Given the description of an element on the screen output the (x, y) to click on. 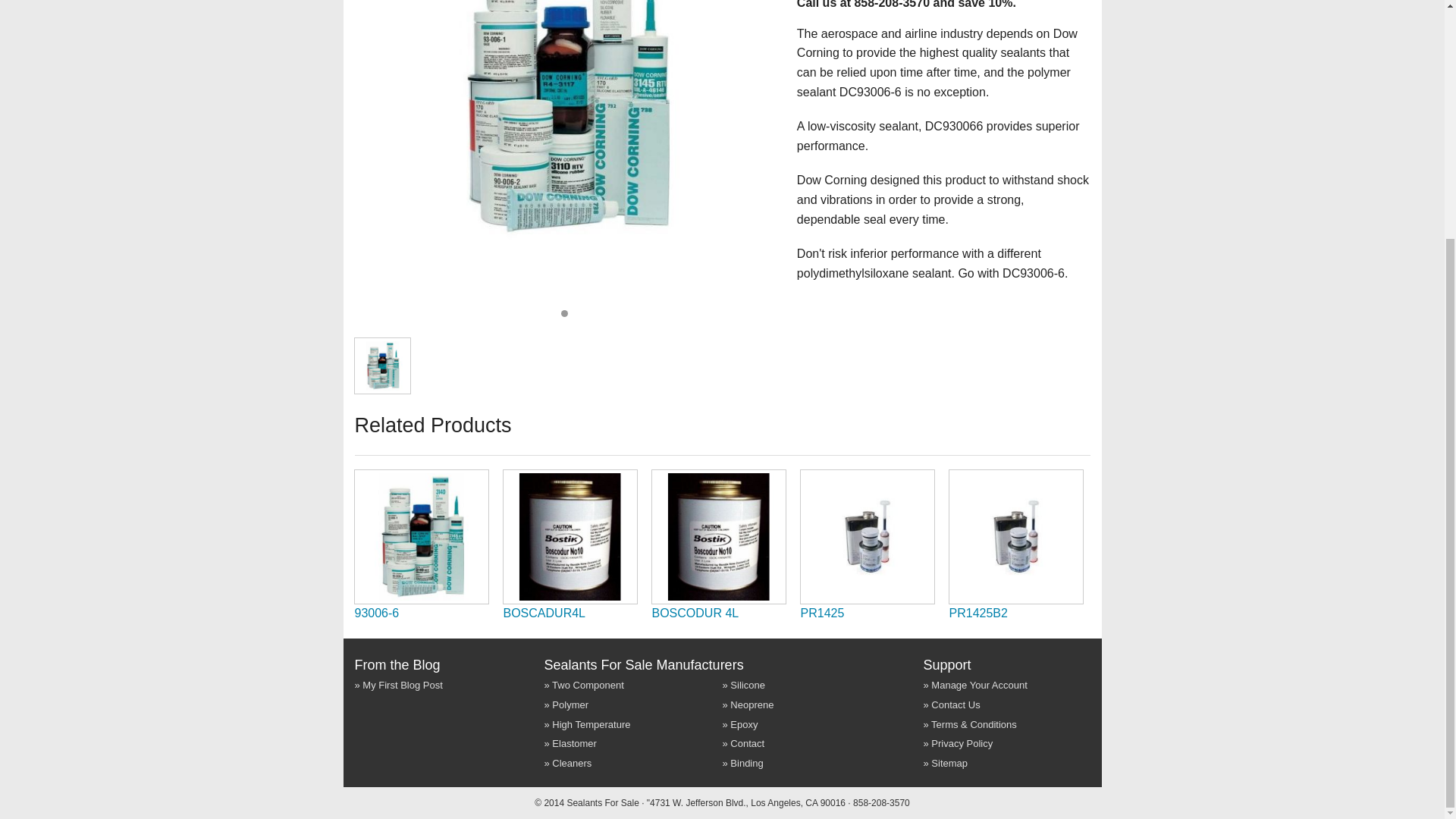
PR1425 (822, 612)
BOSCADUR4L (544, 612)
PR1425B2 (978, 612)
93006-6 (376, 612)
BOSCODUR 4L (695, 612)
